Given the description of an element on the screen output the (x, y) to click on. 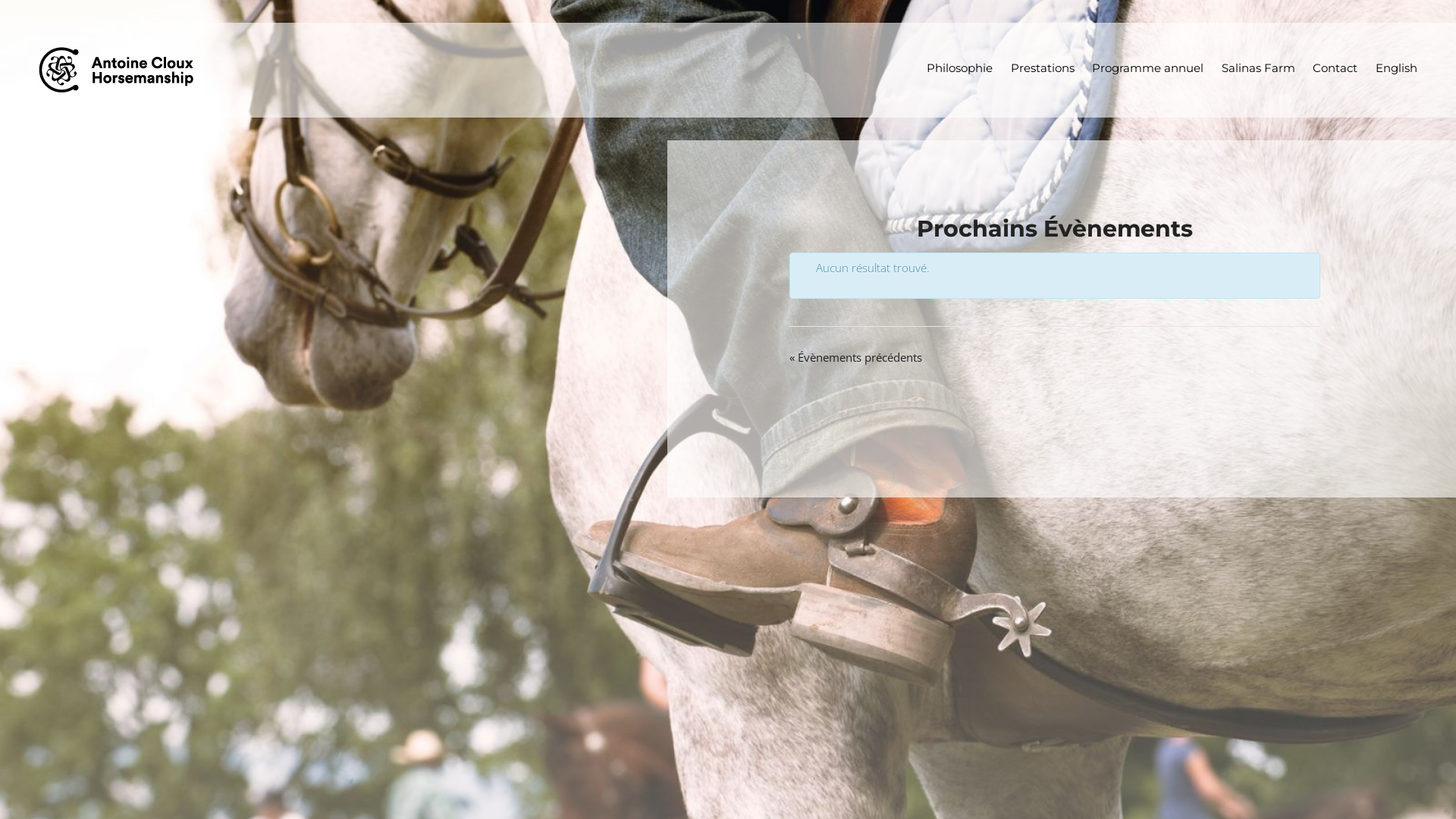
Contact Element type: text (1335, 68)
Salinas Farm Element type: text (1258, 68)
Prestations Element type: text (1042, 68)
Programme annuel Element type: text (1147, 68)
Antoine Cloux Element type: hover (121, 69)
English Element type: text (1395, 68)
Philosophie Element type: text (959, 68)
